Given the description of an element on the screen output the (x, y) to click on. 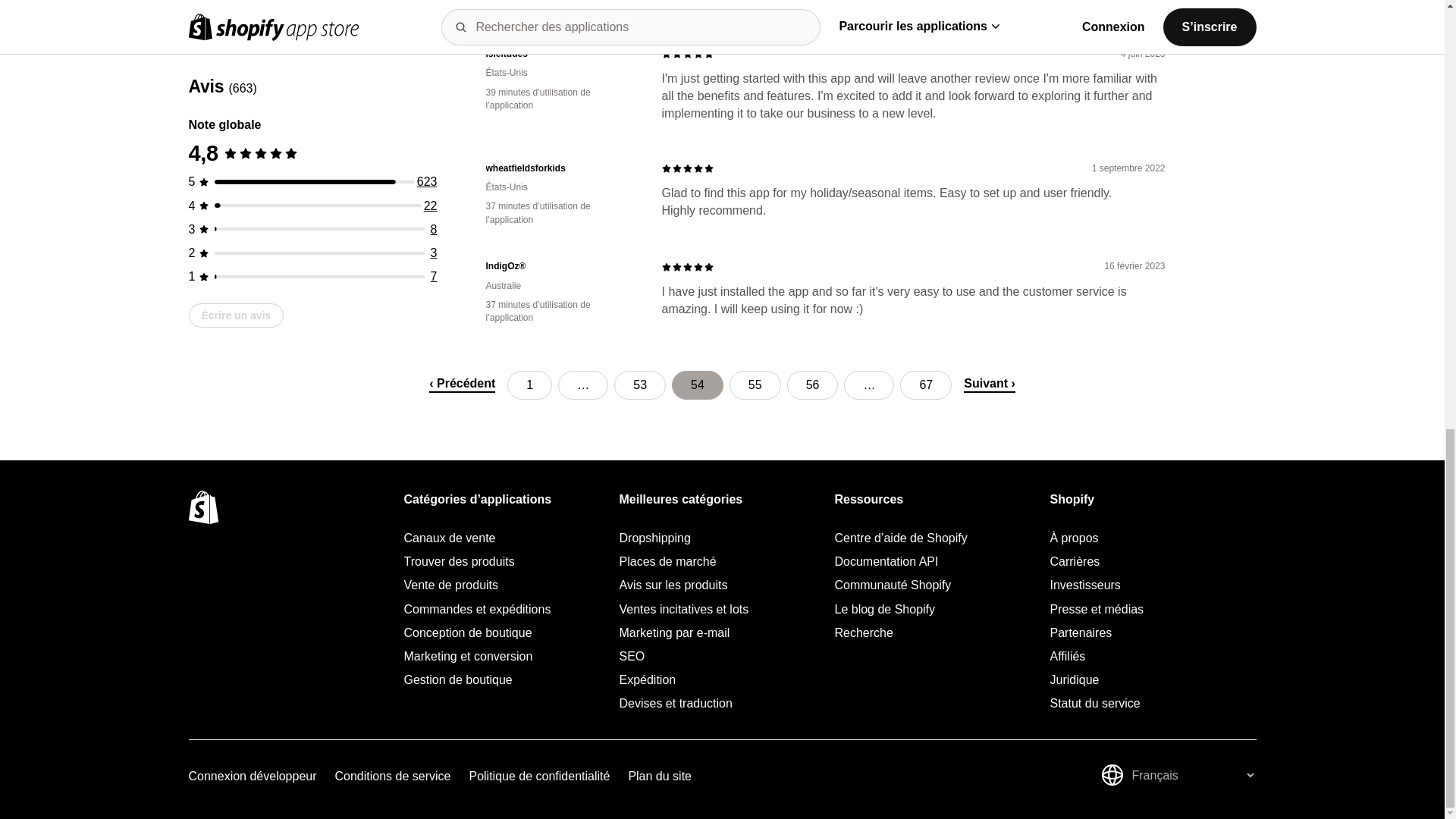
Isleitudes (560, 53)
wheatfieldsforkids (560, 168)
